Given the description of an element on the screen output the (x, y) to click on. 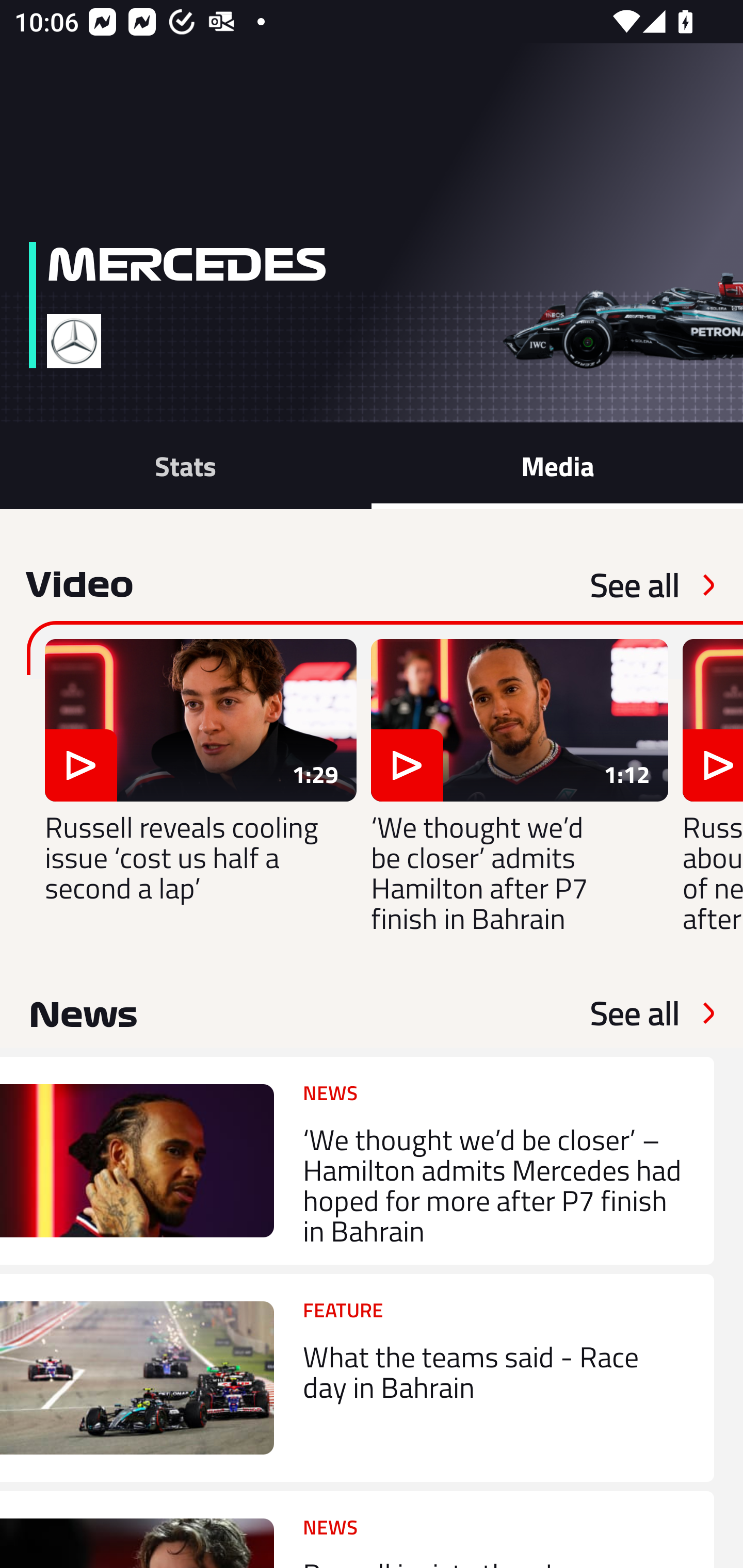
Stats (185, 465)
See all (634, 584)
See all (634, 1012)
